Given the description of an element on the screen output the (x, y) to click on. 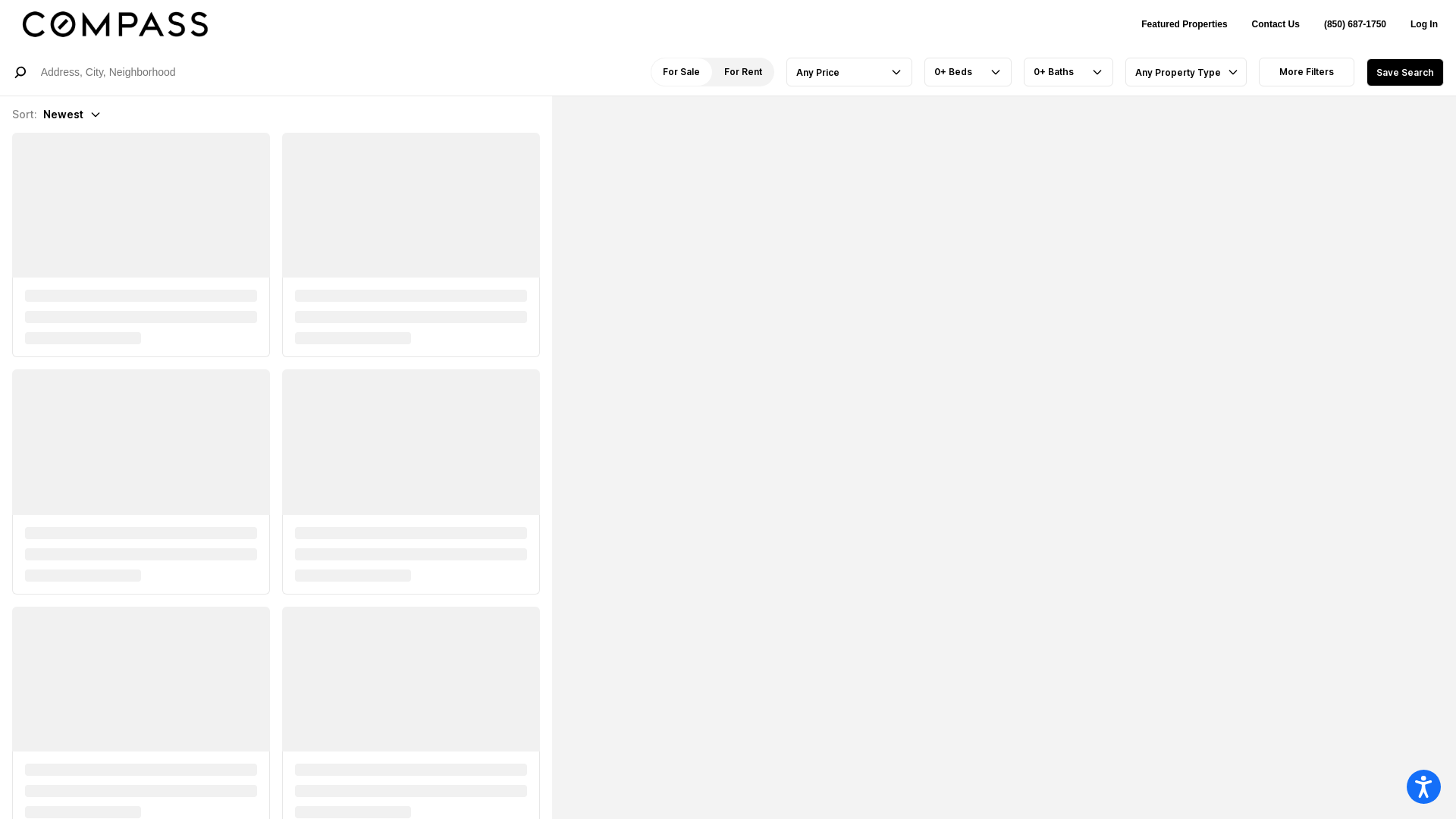
Log In Element type: text (1423, 23)
Any Property Type Element type: text (1185, 71)
(850) 687-1750 Element type: text (1355, 23)
Featured Properties Element type: text (1183, 23)
More Filters Element type: text (1306, 71)
0+ Beds Element type: text (967, 71)
0+ Baths Element type: text (1068, 71)
Contact Us Element type: text (1275, 23)
Newest Element type: text (72, 114)
Go to: Homepage Element type: text (150, 24)
Any Price Element type: text (849, 71)
Save Search Element type: text (1404, 71)
